Given the description of an element on the screen output the (x, y) to click on. 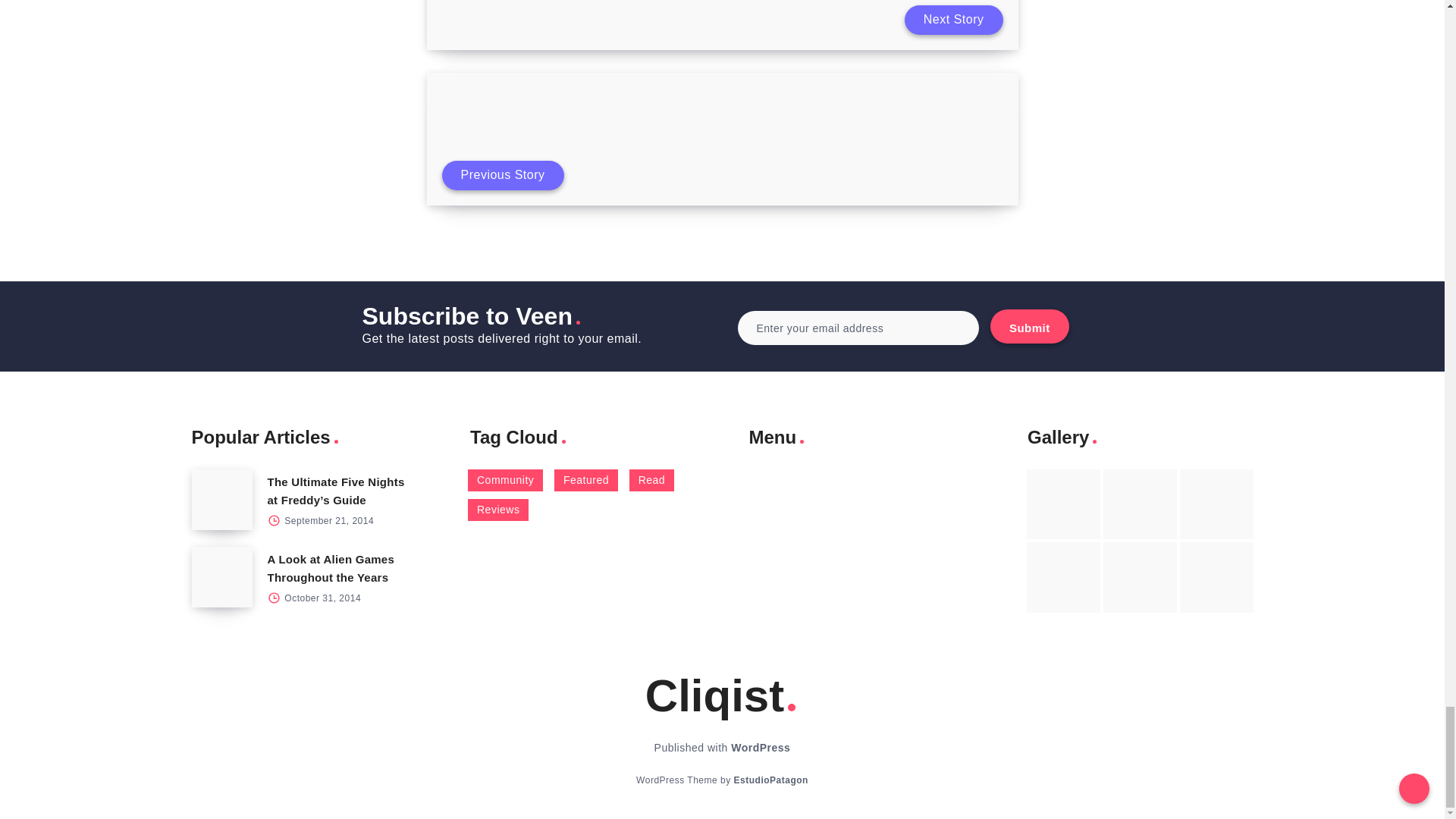
Just a nice paint (1139, 576)
Old music caption (1216, 503)
Retro Camera (1139, 503)
Pink paper over blue background (1063, 503)
